Given the description of an element on the screen output the (x, y) to click on. 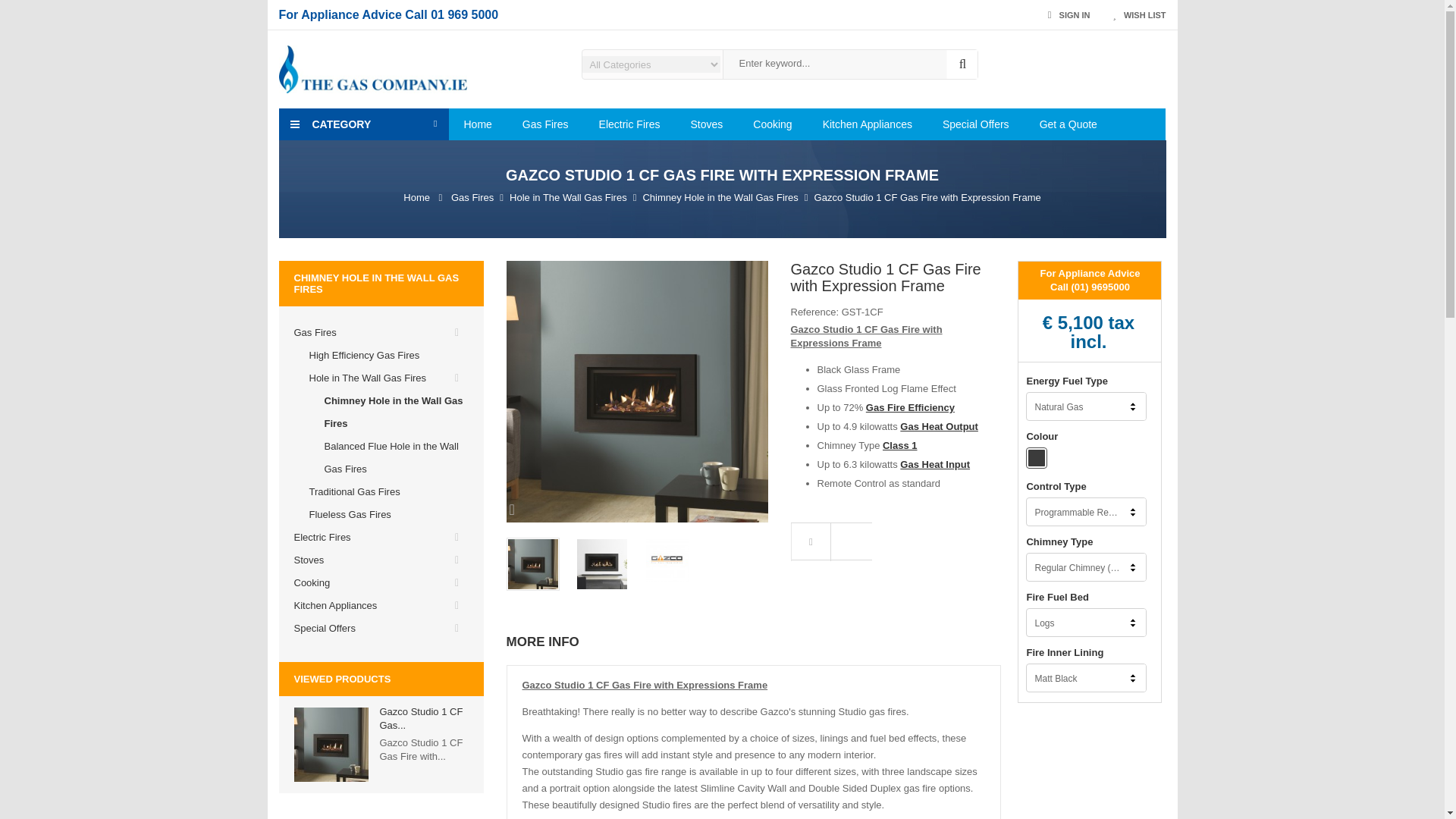
Chimney Hole in the Wall Gas Fires (719, 197)
Stoves (706, 123)
Electric Fires (629, 123)
Gas Fires (544, 123)
Hole in The Wall Gas Fires (568, 197)
The Gas Company (373, 68)
Home (477, 123)
WISH LIST (1139, 14)
Wish List (1139, 14)
Gas Fires (472, 197)
Cooking (772, 123)
SIGN IN (1069, 14)
Return to Home (416, 197)
